Given the description of an element on the screen output the (x, y) to click on. 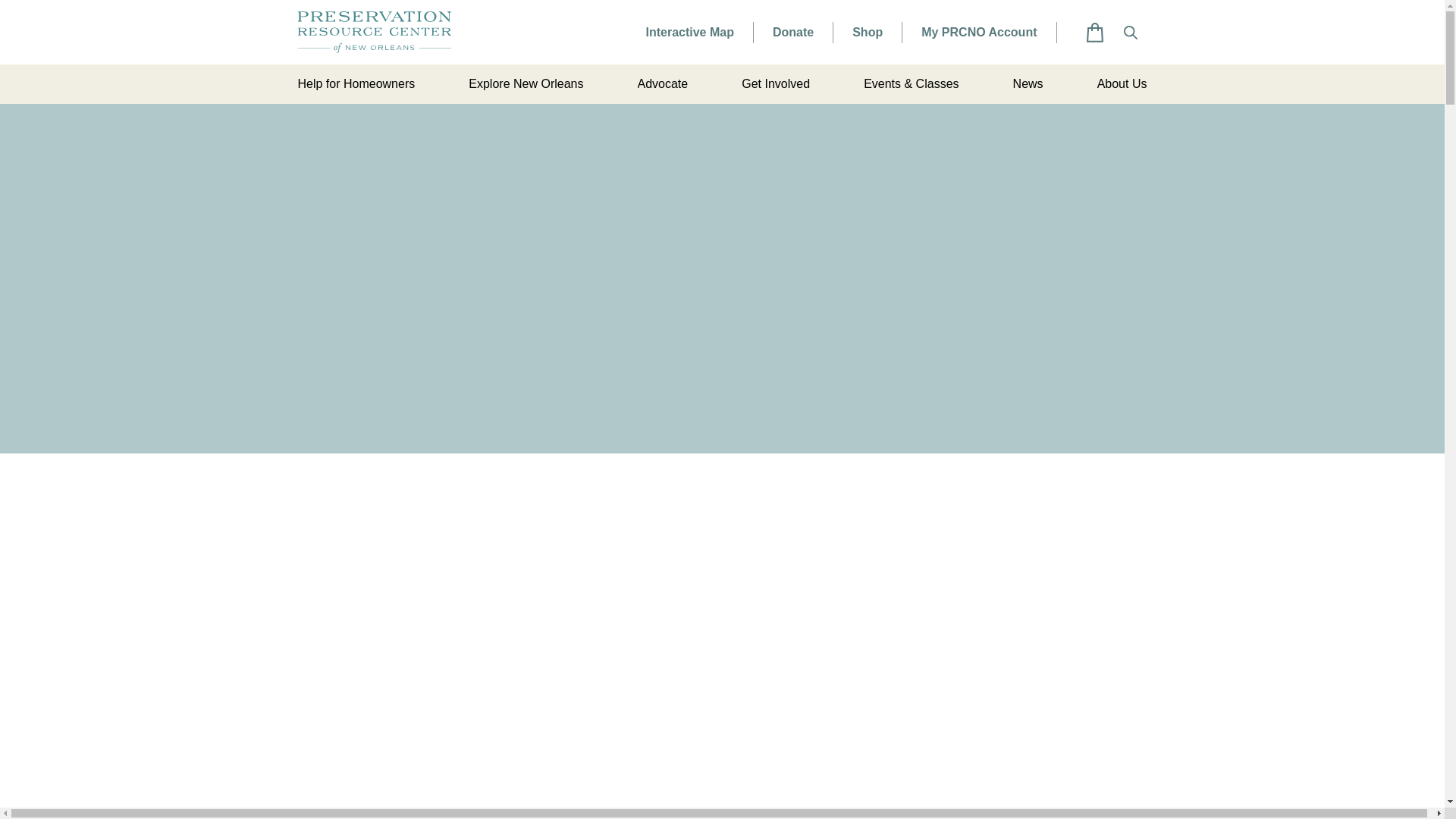
Advocate (662, 84)
Get Involved (775, 84)
Donate (793, 31)
Explore New Orleans (525, 84)
Help for Homeowners (355, 84)
Interactive Map (689, 31)
My PRCNO Account (978, 31)
Shop (866, 31)
